Given the description of an element on the screen output the (x, y) to click on. 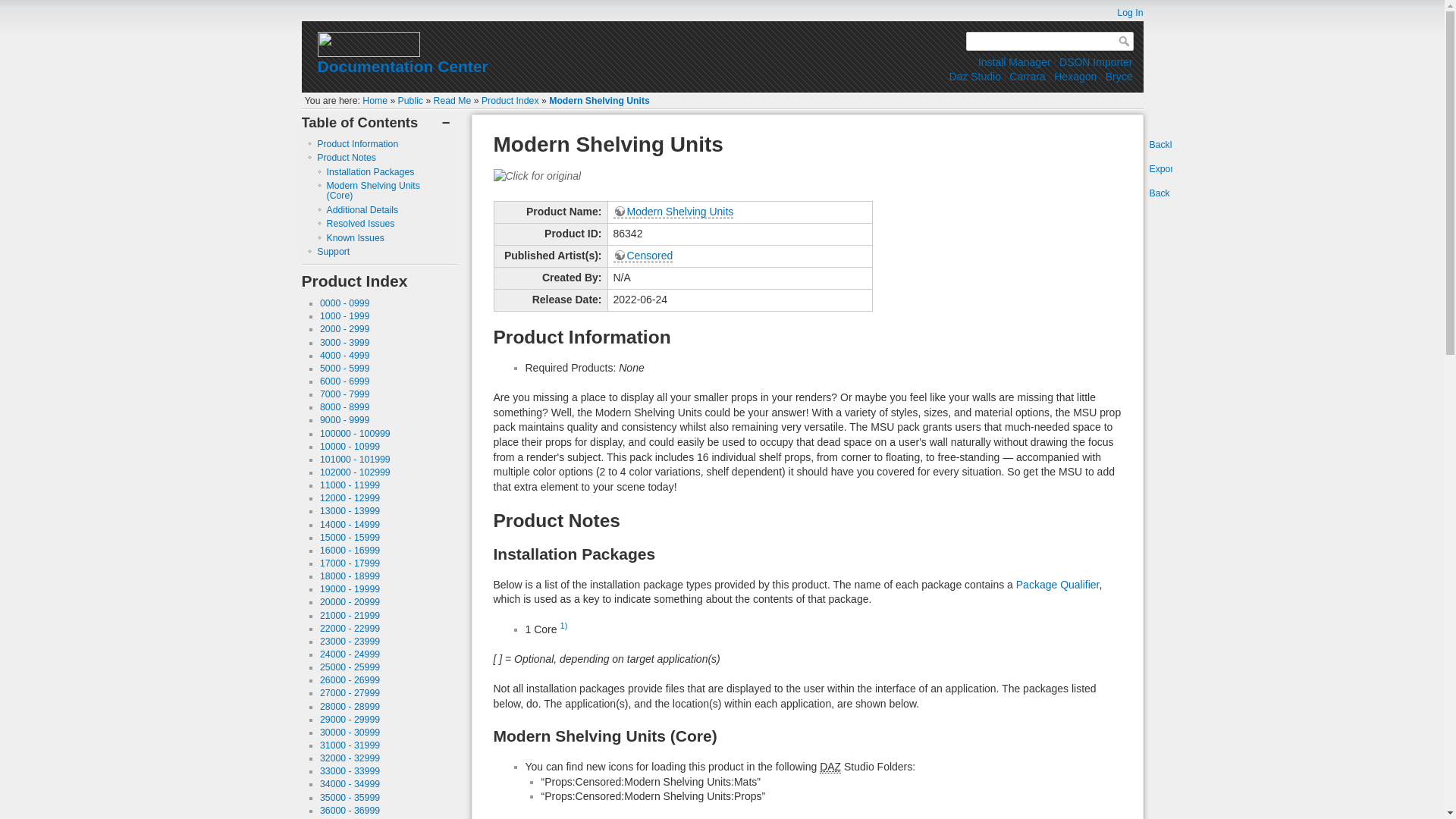
8000 - 8999 (344, 407)
Search (1125, 40)
public:software:carrara:start (1027, 76)
Product Index (509, 100)
Hexagon (1075, 76)
5000 - 5999 (344, 368)
3000 - 3999 (344, 342)
11000 - 11999 (350, 484)
0000 - 0999 (344, 303)
Installation Packages (370, 172)
9000 - 9999 (344, 419)
Product Information (357, 143)
Install Manager (1014, 61)
1000 - 1999 (344, 316)
public:software:hexagon:start (1075, 76)
